Given the description of an element on the screen output the (x, y) to click on. 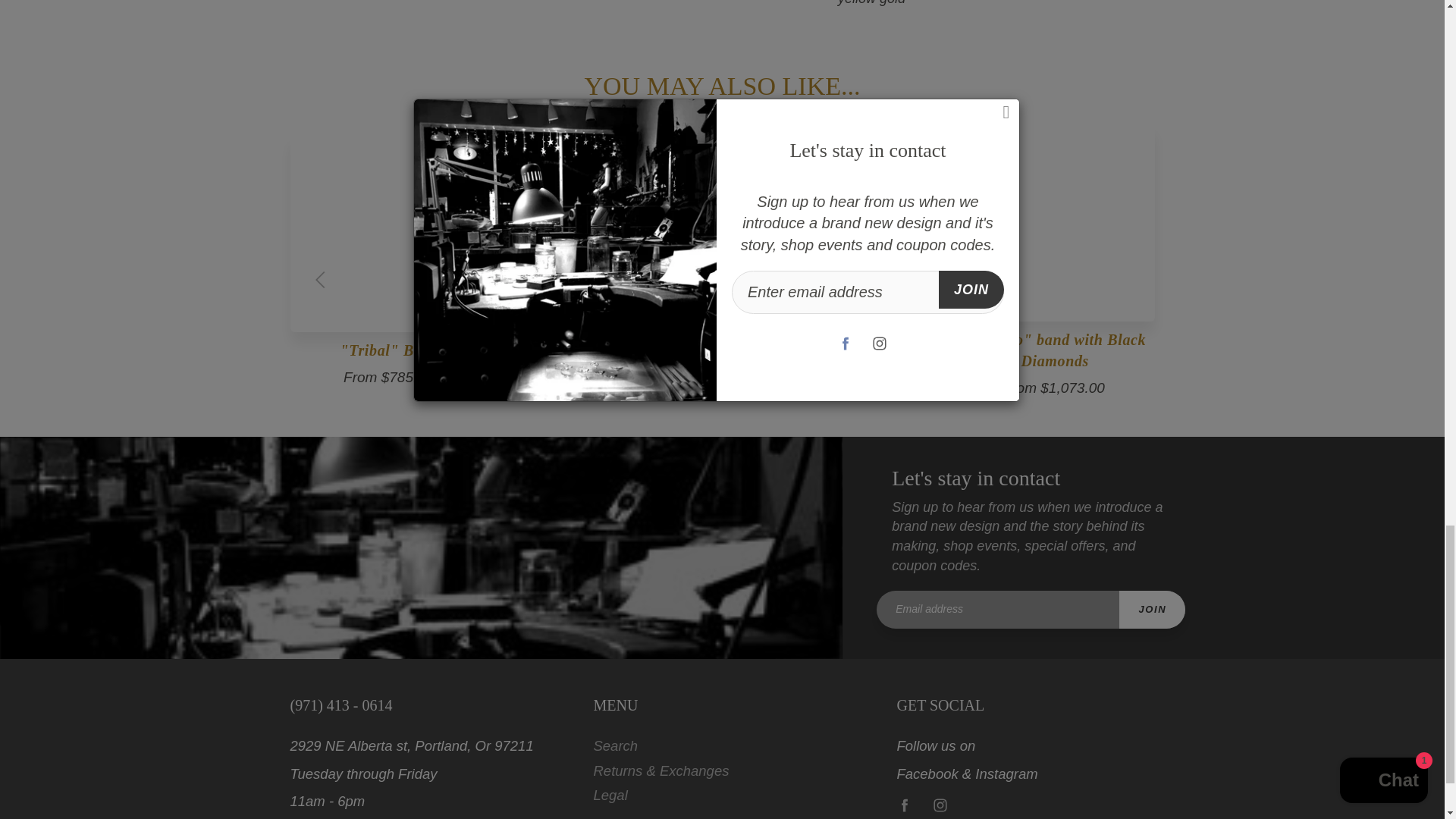
Facebook (904, 804)
